Given the description of an element on the screen output the (x, y) to click on. 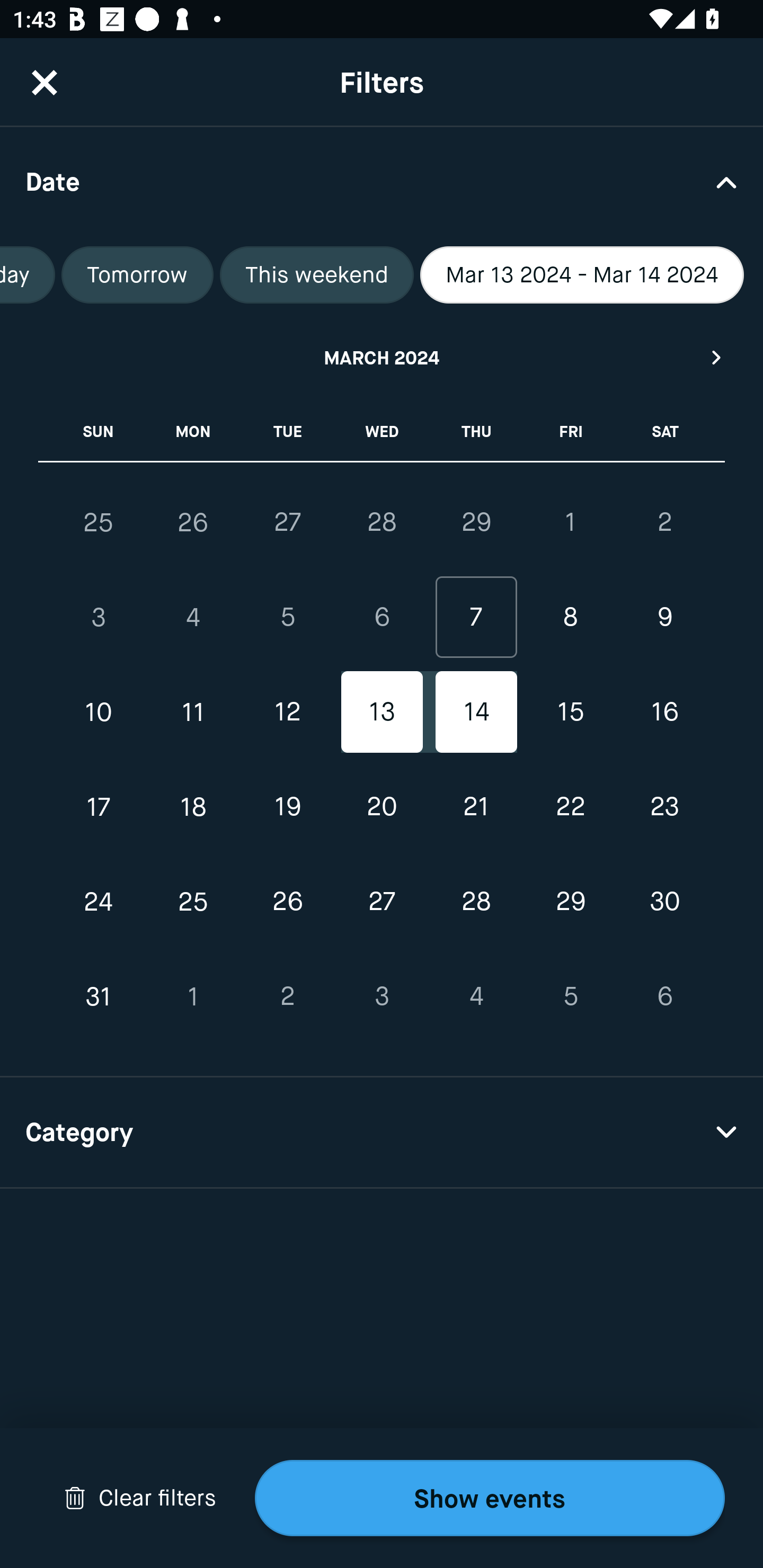
CloseButton (44, 82)
Date Drop Down Arrow (381, 181)
Tomorrow (137, 274)
This weekend (316, 274)
Mar 13 2024 - Mar 14 2024 (581, 274)
Next (717, 357)
25 (98, 522)
26 (192, 522)
27 (287, 522)
28 (381, 522)
29 (475, 522)
1 (570, 522)
2 (664, 522)
3 (98, 617)
4 (192, 617)
5 (287, 617)
6 (381, 617)
7 (475, 617)
8 (570, 617)
9 (664, 617)
10 (98, 711)
11 (192, 711)
12 (287, 711)
13 (381, 711)
14 (475, 711)
15 (570, 711)
16 (664, 711)
17 (98, 806)
18 (192, 806)
19 (287, 806)
20 (381, 806)
21 (475, 806)
22 (570, 806)
23 (664, 806)
24 (98, 901)
25 (192, 901)
26 (287, 901)
27 (381, 901)
28 (475, 901)
29 (570, 901)
30 (664, 901)
31 (98, 996)
1 (192, 996)
2 (287, 996)
3 (381, 996)
4 (475, 996)
5 (570, 996)
6 (664, 996)
Category Drop Down Arrow (381, 1132)
Drop Down Arrow Clear filters (139, 1497)
Show events (489, 1497)
